Given the description of an element on the screen output the (x, y) to click on. 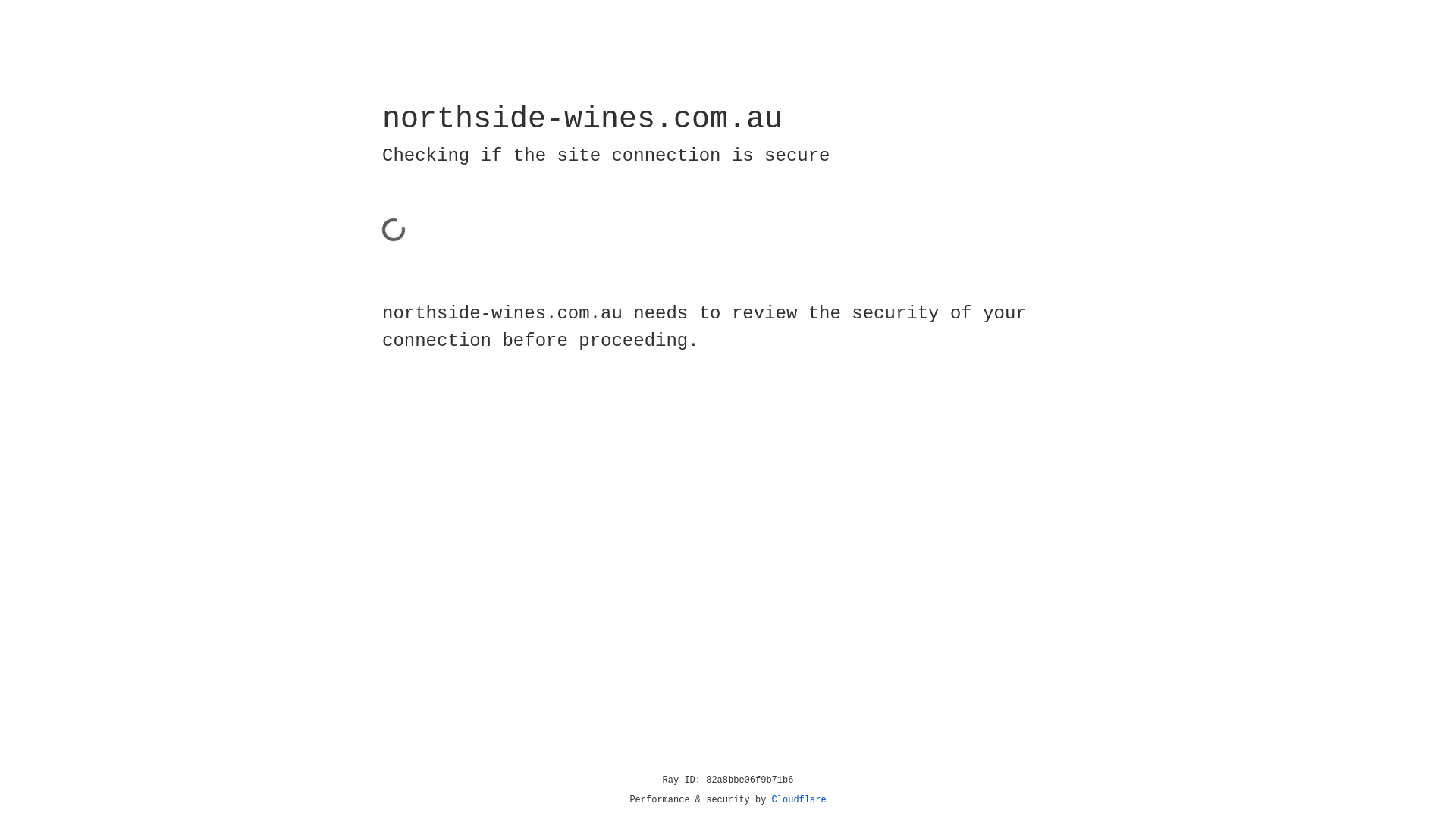
Cloudflare Element type: text (798, 799)
